Given the description of an element on the screen output the (x, y) to click on. 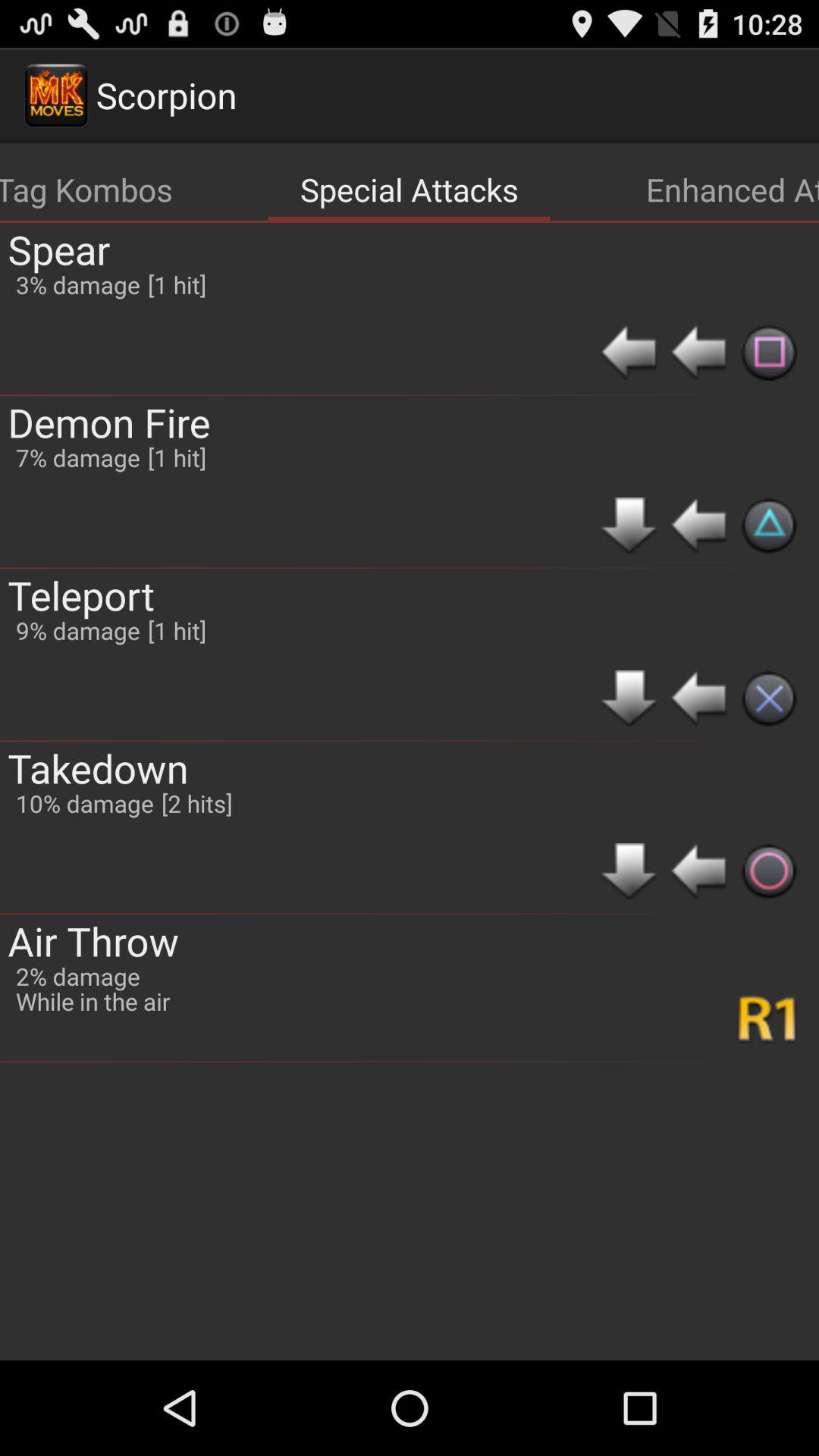
press the app above the demon fire (58, 248)
